Given the description of an element on the screen output the (x, y) to click on. 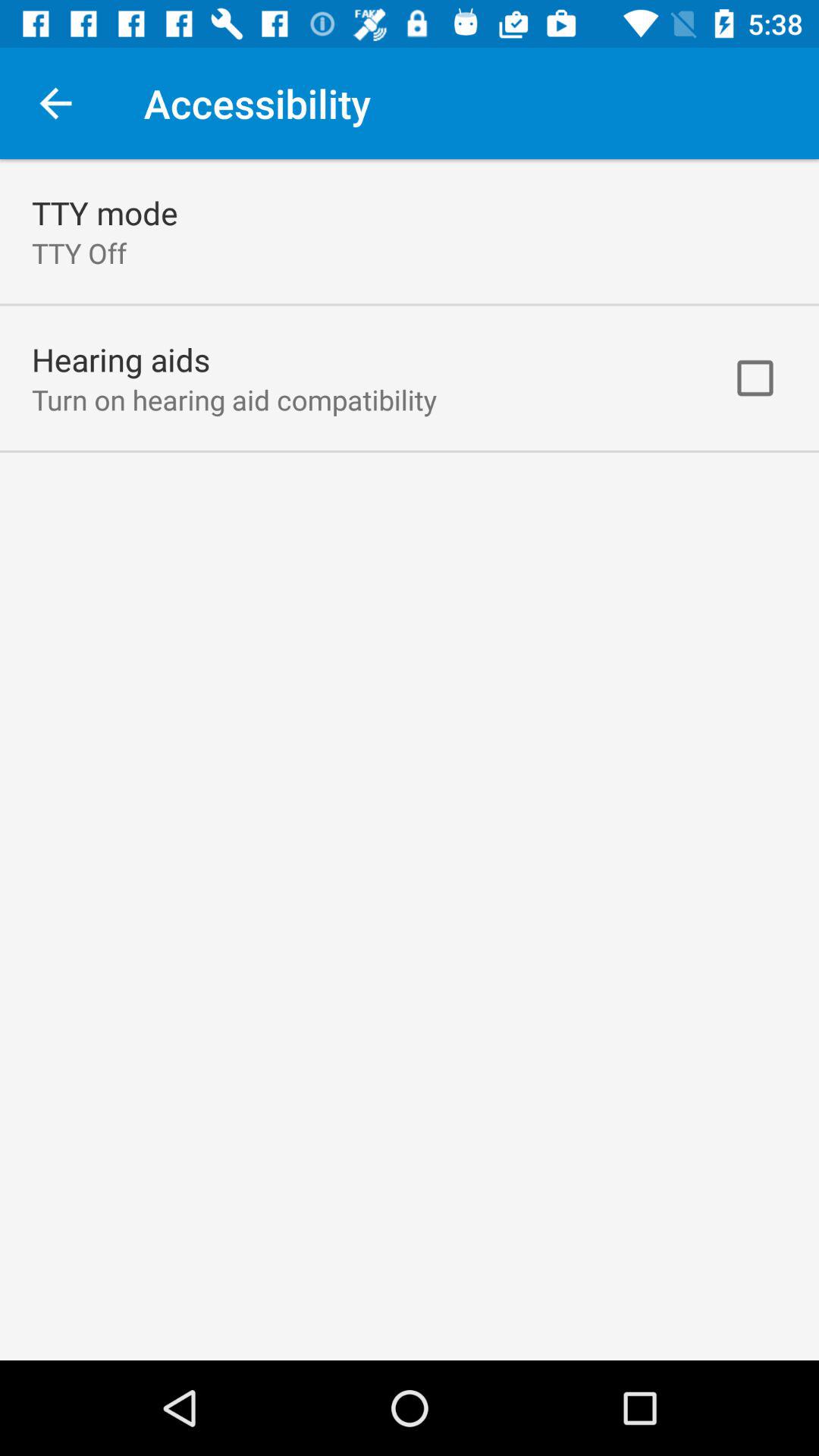
open the icon above tty off app (104, 212)
